Given the description of an element on the screen output the (x, y) to click on. 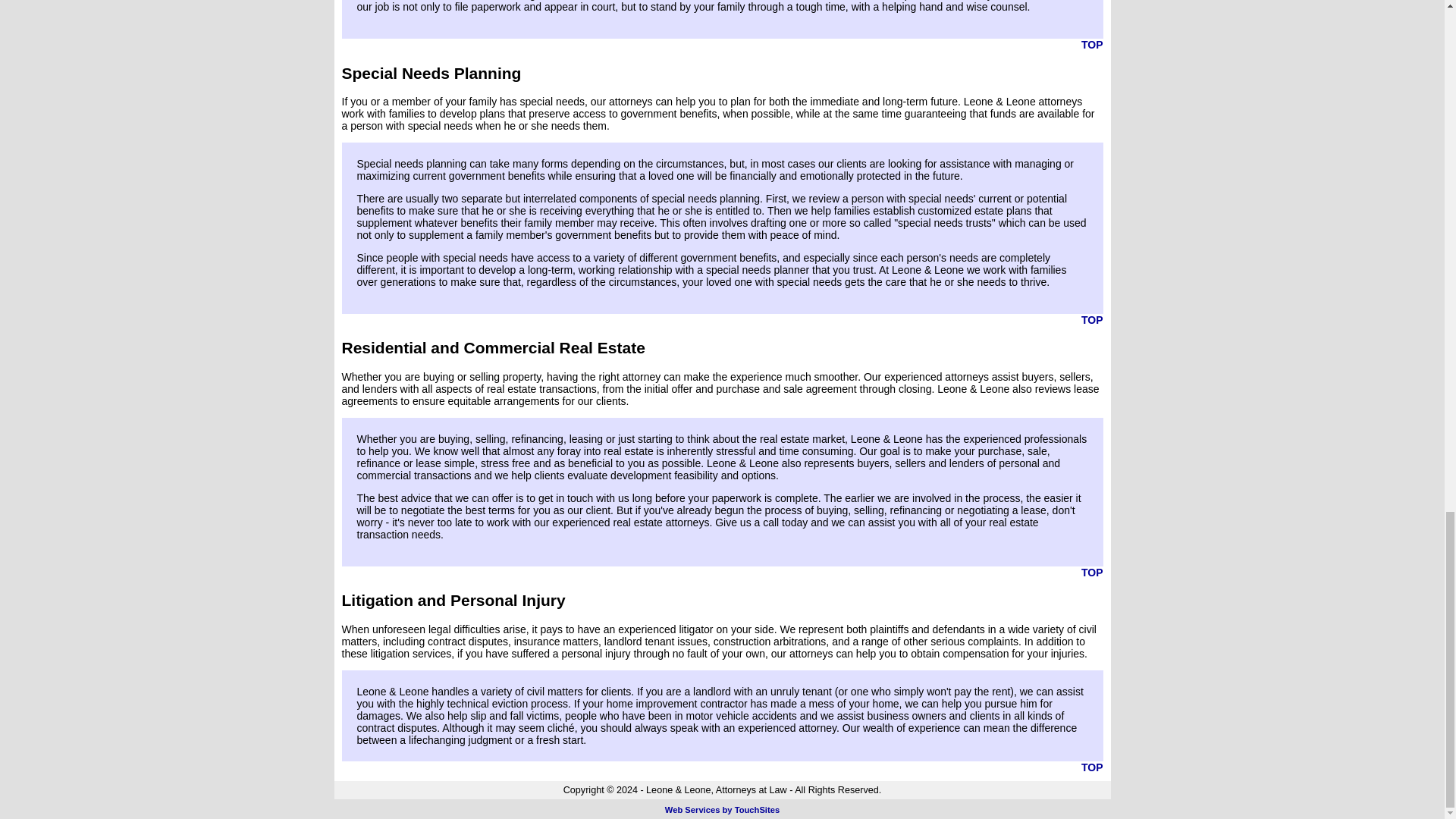
TOP (1092, 319)
TOP (1092, 572)
Web Services by TouchSites (721, 809)
TOP (1092, 767)
TOP (1092, 44)
